Given the description of an element on the screen output the (x, y) to click on. 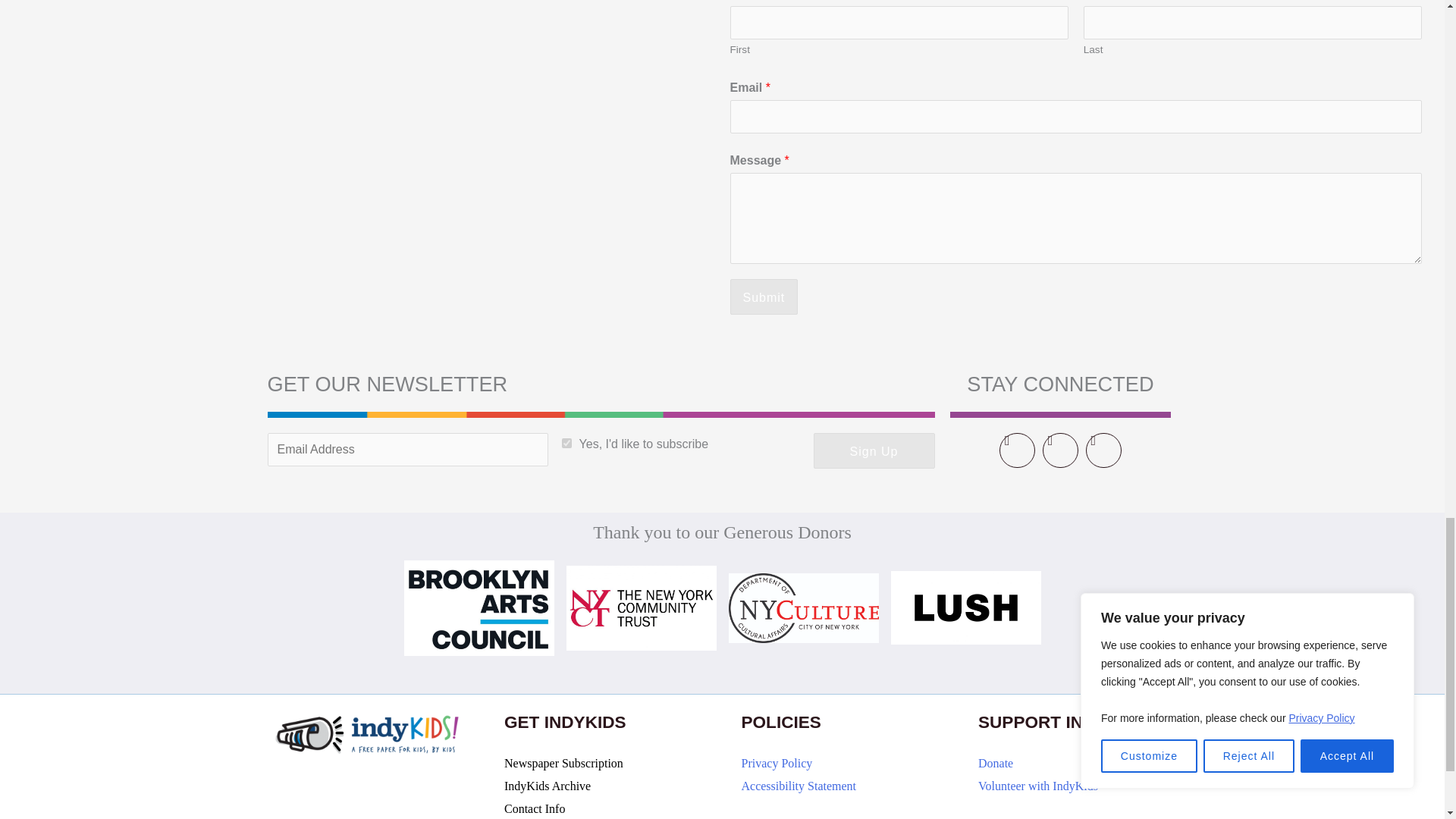
1 (567, 442)
